Given the description of an element on the screen output the (x, y) to click on. 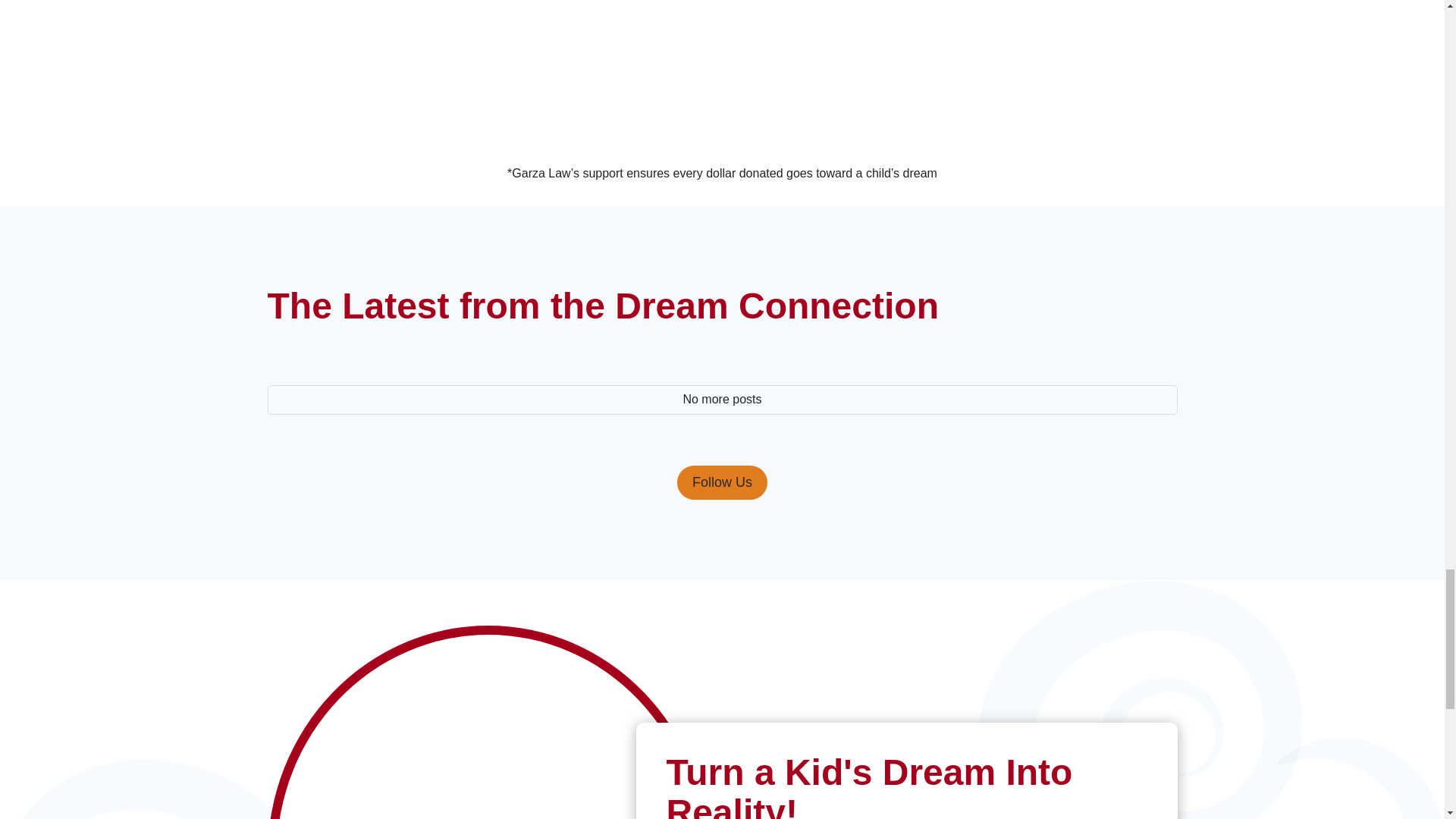
variety-childrens-charity 1 (904, 47)
Garza Law (540, 46)
chi-omega-logo (1086, 54)
ccc-logo (358, 57)
chairmans-club-logo (722, 47)
